Given the description of an element on the screen output the (x, y) to click on. 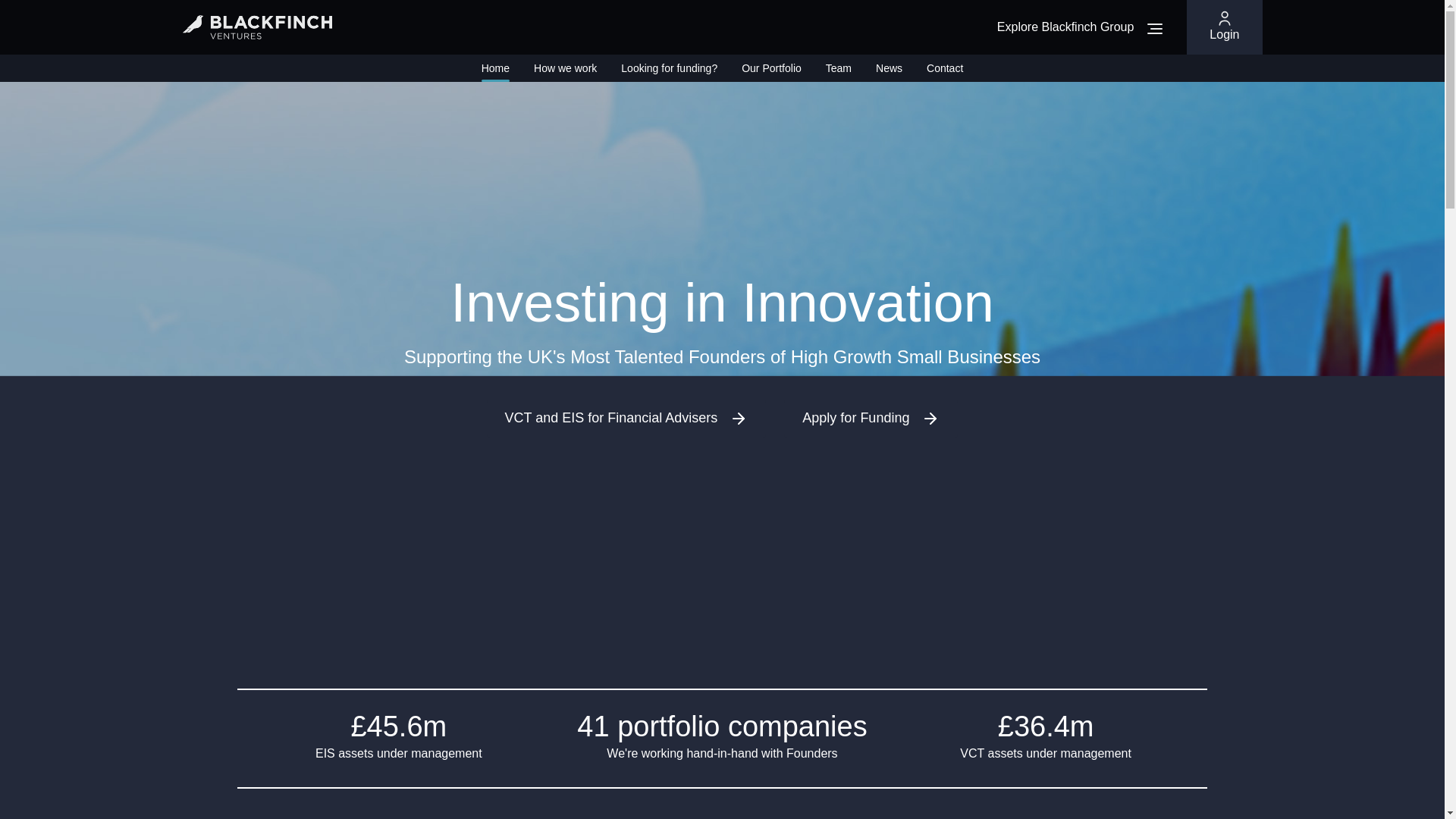
News (889, 67)
How we work (565, 67)
Looking for funding? (669, 67)
Home (495, 67)
Apply for Funding (871, 418)
Contact (944, 67)
Team (838, 67)
VCT and EIS for Financial Advisers (626, 418)
Our Portfolio (771, 67)
